Given the description of an element on the screen output the (x, y) to click on. 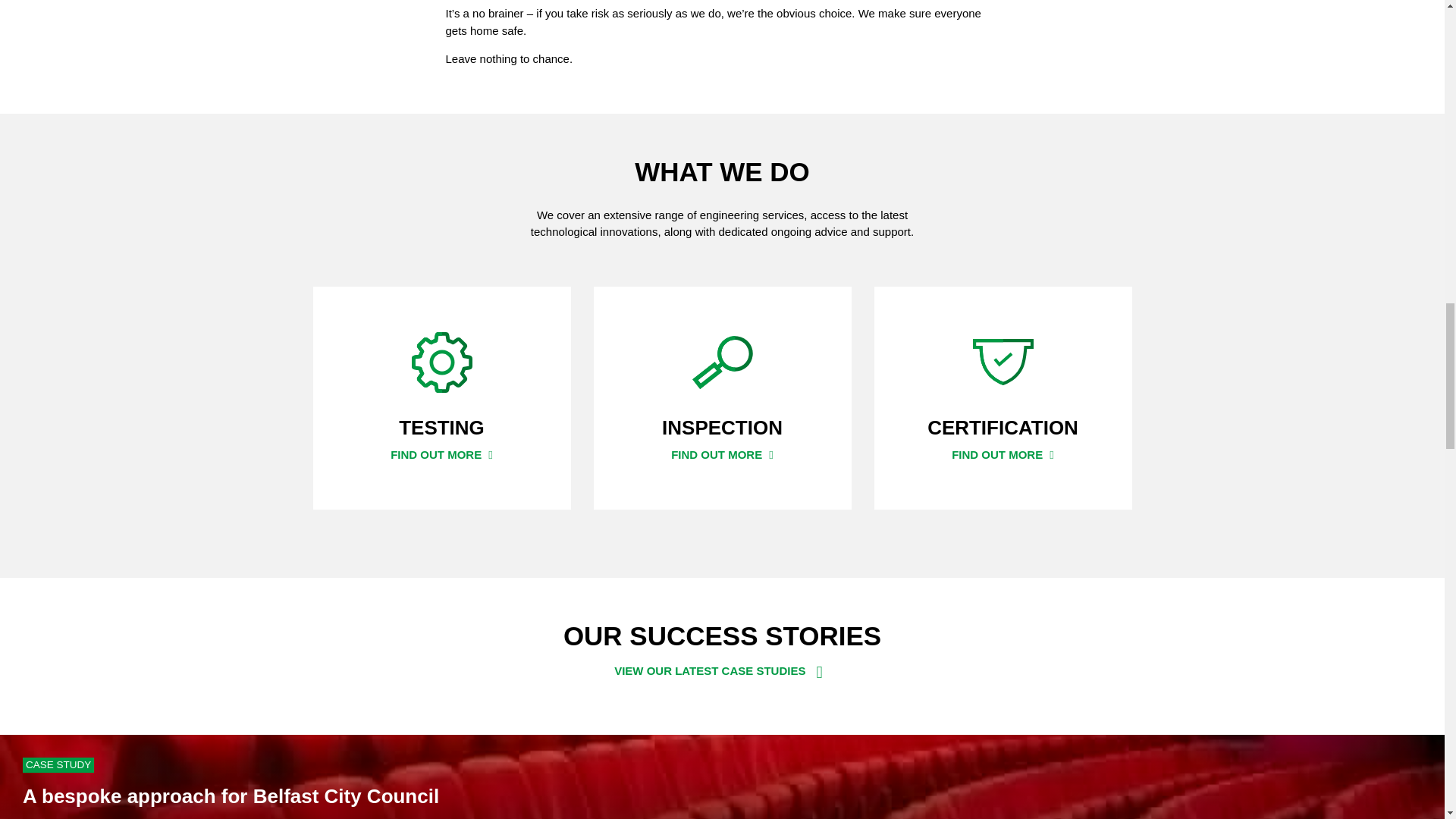
VIEW OUR LATEST CASE STUDIES (721, 671)
